Given the description of an element on the screen output the (x, y) to click on. 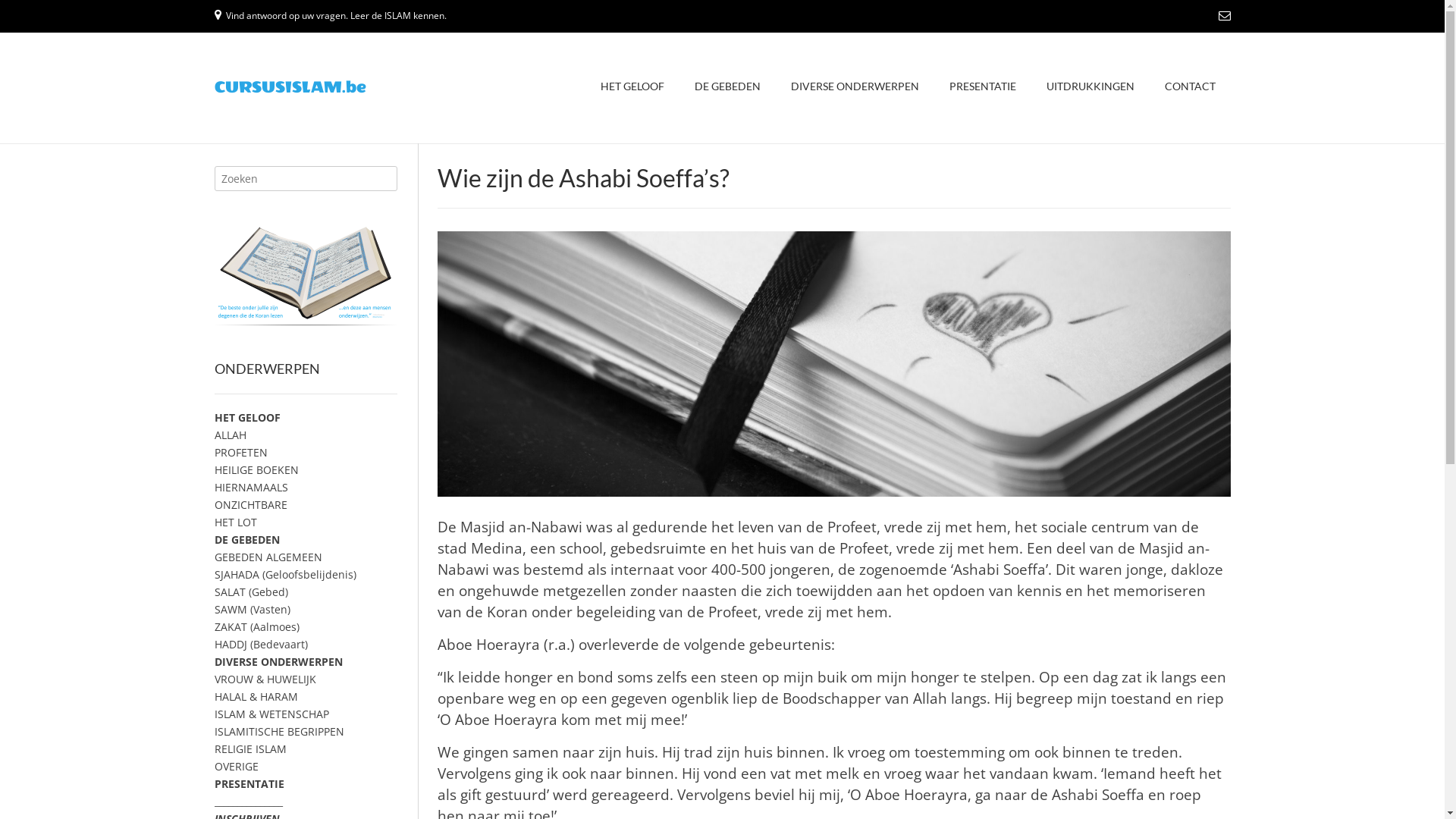
ALLAH Element type: text (229, 434)
OVERIGE Element type: text (235, 766)
PRESENTATIE Element type: text (982, 87)
RELIGIE ISLAM Element type: text (249, 748)
HET GELOOF Element type: text (632, 87)
PRESENTATIE Element type: text (248, 783)
DIVERSE ONDERWERPEN Element type: text (854, 87)
CURSUSISLAM.be Element type: text (289, 87)
CONTACT Element type: text (1189, 87)
HET LOT Element type: text (234, 521)
PROFETEN Element type: text (239, 452)
ISLAMITISCHE BEGRIPPEN Element type: text (278, 731)
HADDJ (Bedevaart) Element type: text (260, 644)
DE GEBEDEN Element type: text (727, 87)
SALAT (Gebed) Element type: text (250, 591)
GEBEDEN ALGEMEEN Element type: text (267, 556)
Send Us an Email Element type: hover (1223, 15)
SJAHADA (Geloofsbelijdenis) Element type: text (284, 574)
HIERNAMAALS Element type: text (250, 487)
SAWM (Vasten) Element type: text (251, 609)
ZAKAT (Aalmoes) Element type: text (255, 626)
HEILIGE BOEKEN Element type: text (255, 469)
ONZICHTBARE Element type: text (249, 504)
UITDRUKKINGEN Element type: text (1090, 87)
ISLAM & WETENSCHAP Element type: text (270, 713)
VROUW & HUWELIJK Element type: text (264, 678)
HALAL & HARAM Element type: text (255, 696)
DE GEBEDEN Element type: text (246, 539)
DIVERSE ONDERWERPEN Element type: text (277, 661)
HET GELOOF Element type: text (246, 417)
